Given the description of an element on the screen output the (x, y) to click on. 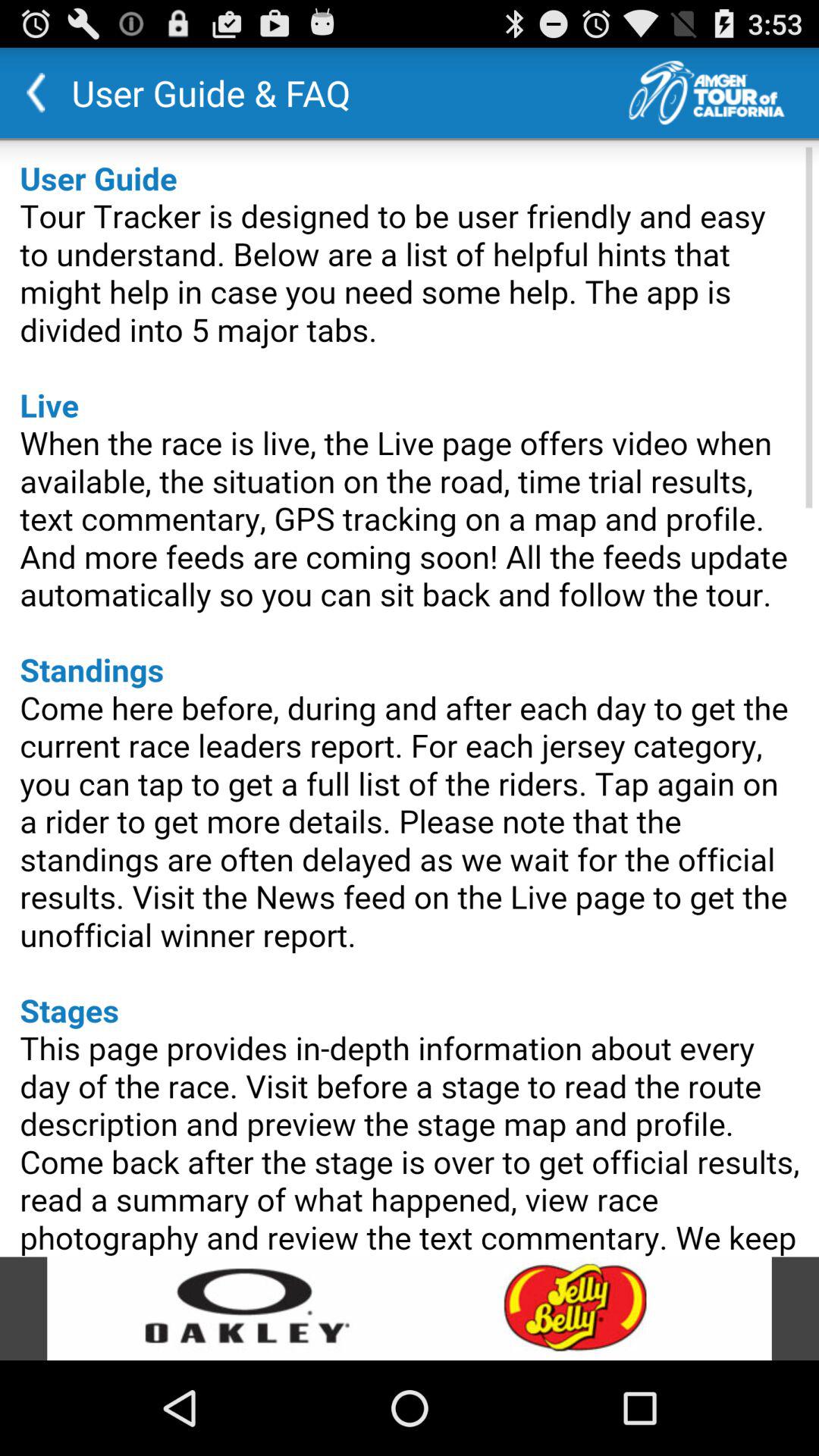
view tour info (724, 92)
